Given the description of an element on the screen output the (x, y) to click on. 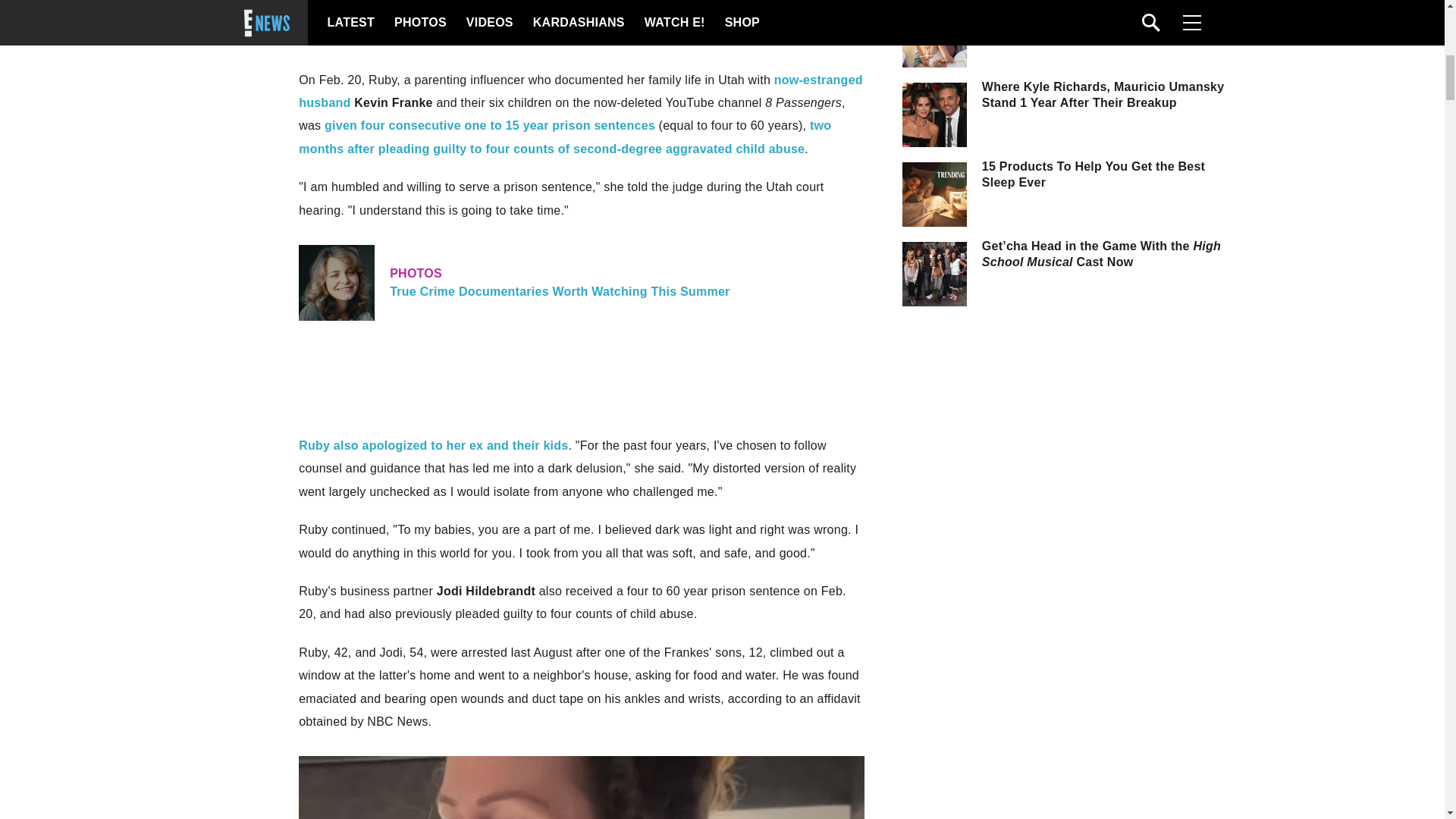
given four consecutive one to 15 year prison sentences (489, 124)
Instagram post (343, 18)
now-estranged husband (581, 282)
Ruby also apologized to her ex and their kids (580, 90)
